Given the description of an element on the screen output the (x, y) to click on. 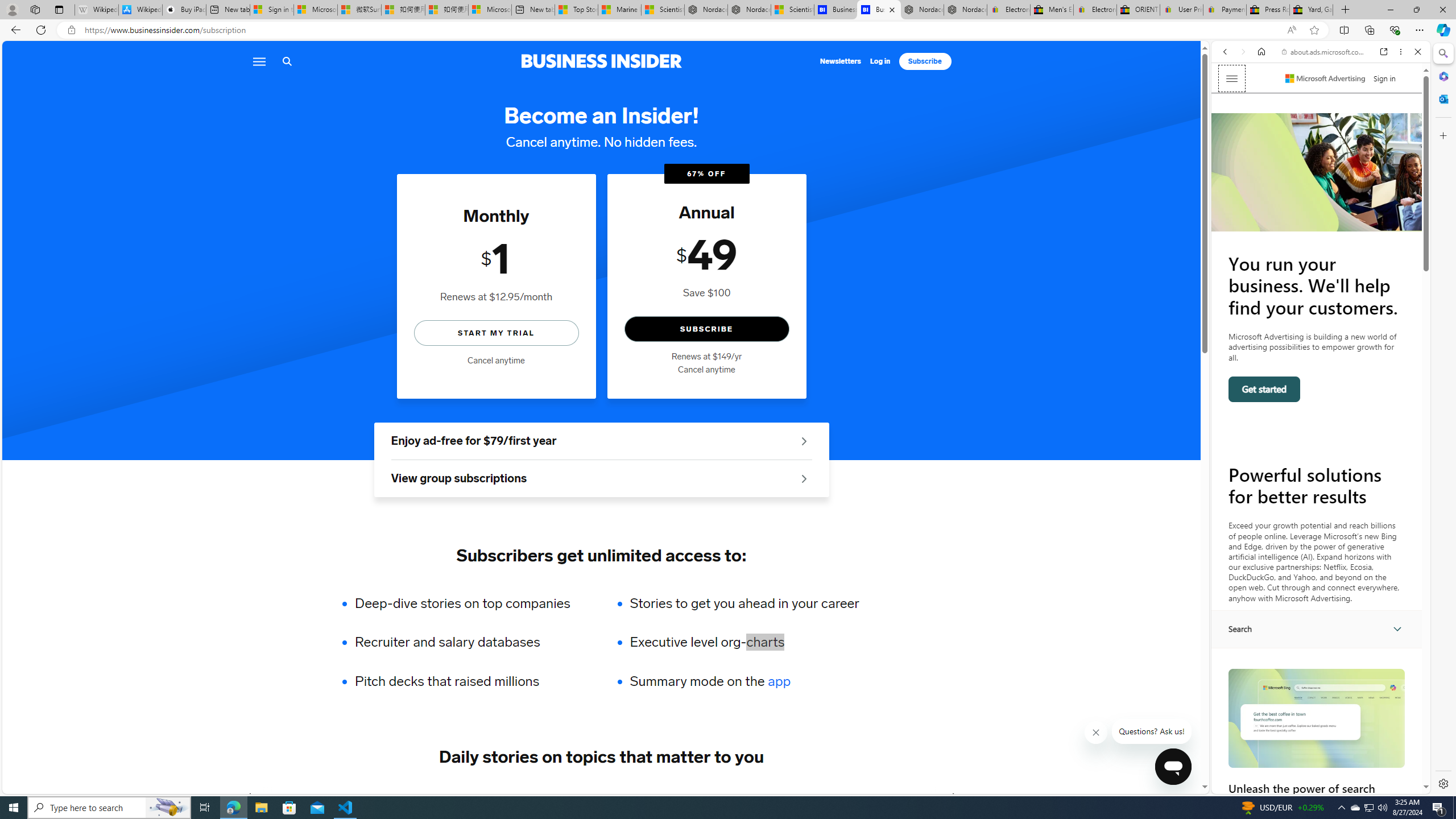
Class: sc-1k07fow-1 cbnSms (1173, 766)
Newsletters (840, 61)
TECH (280, 796)
Enjoy ad-free for $79/first year (601, 441)
STRATEGY (890, 796)
RETAIL (422, 796)
Get started (1264, 388)
